Given the description of an element on the screen output the (x, y) to click on. 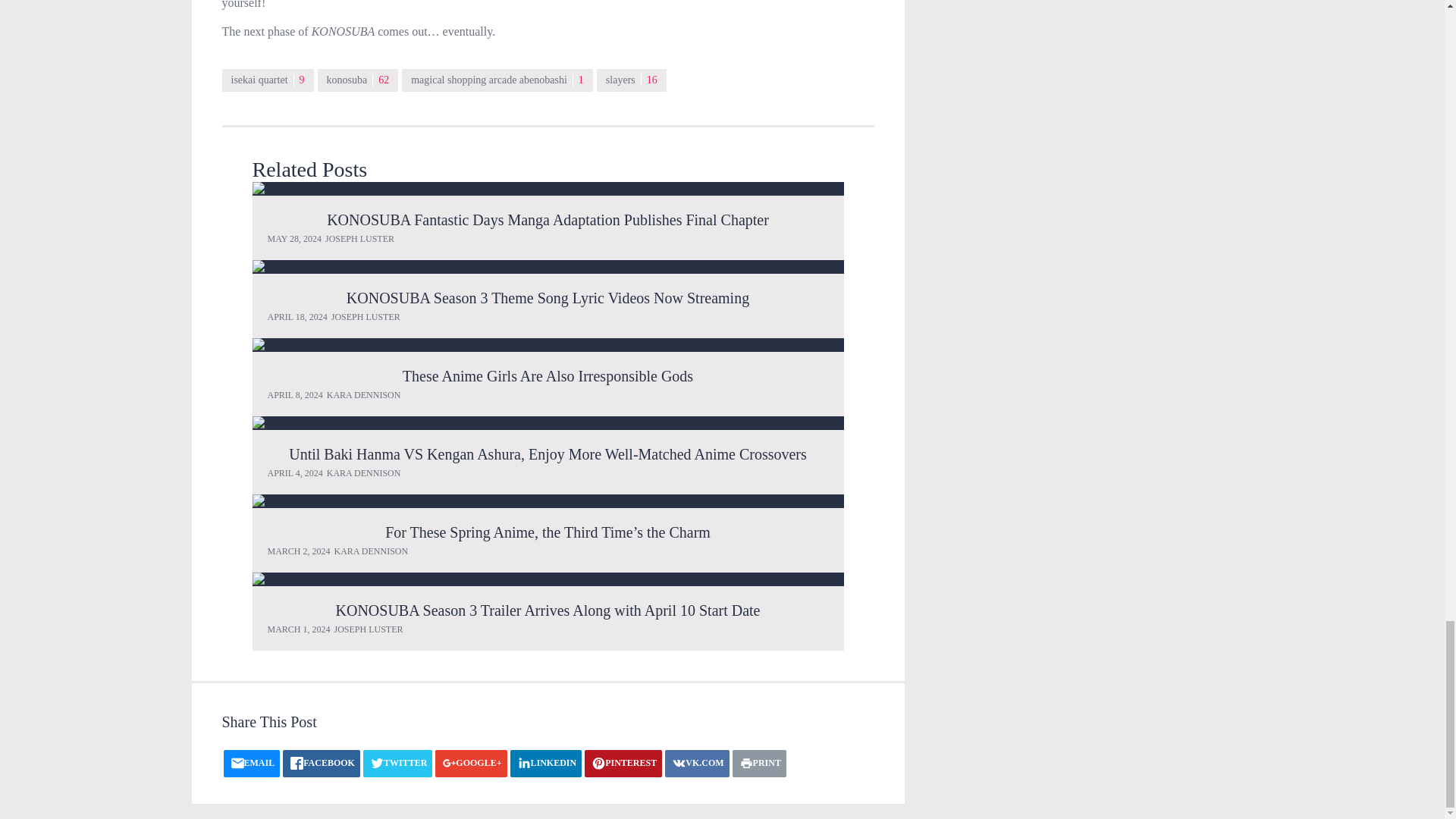
KONOSUBA Season 3 Theme Song Lyric Videos Now Streaming (547, 266)
isekai quartet 9 (267, 79)
These Anime Girls Are Also Irresponsible Gods (548, 375)
These Anime Girls Are Also Irresponsible Gods (547, 345)
KONOSUBA Season 3 Theme Song Lyric Videos Now Streaming (547, 297)
magical shopping arcade abenobashi 1 (496, 79)
konosuba 62 (357, 79)
slayers 16 (631, 79)
